Given the description of an element on the screen output the (x, y) to click on. 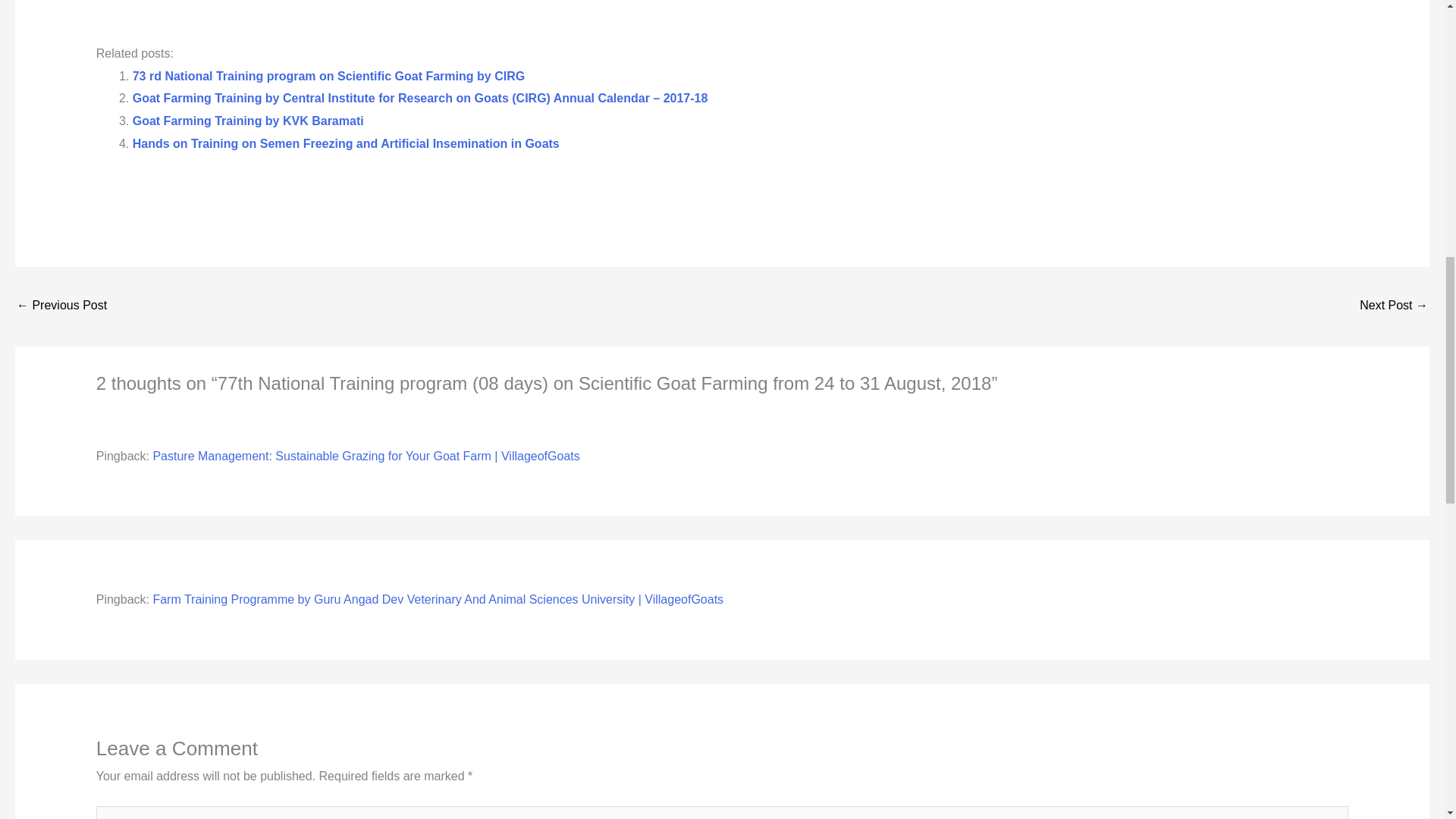
Goat Farming Training by KVK Baramati (248, 120)
Goat Farming Training by KVK Baramati (248, 120)
Commercial Goat Farming Training Video CD (1393, 306)
